Given the description of an element on the screen output the (x, y) to click on. 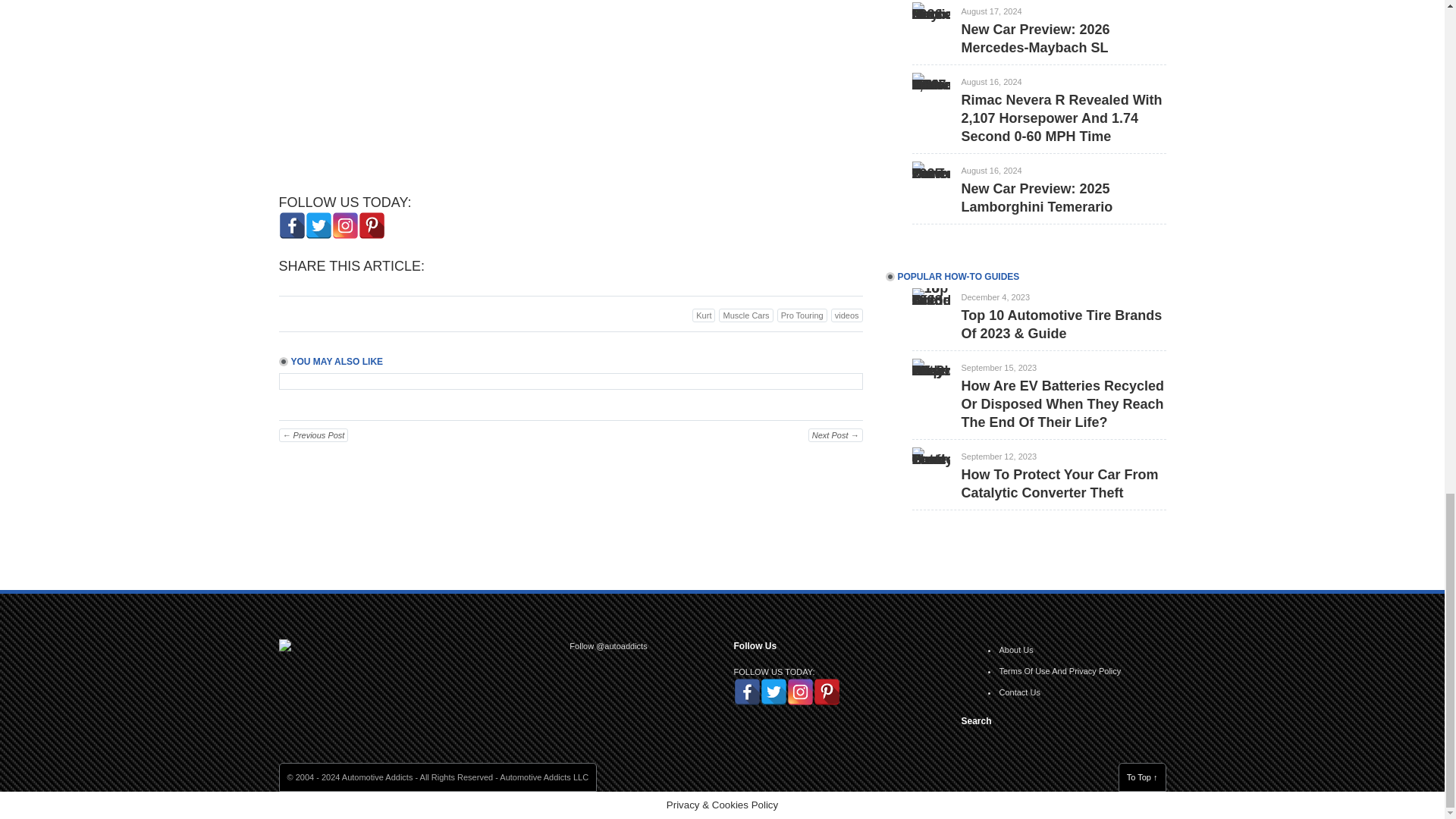
Pinterest (371, 225)
Instagram (344, 225)
Twitter (317, 225)
Facebook (292, 225)
